Given the description of an element on the screen output the (x, y) to click on. 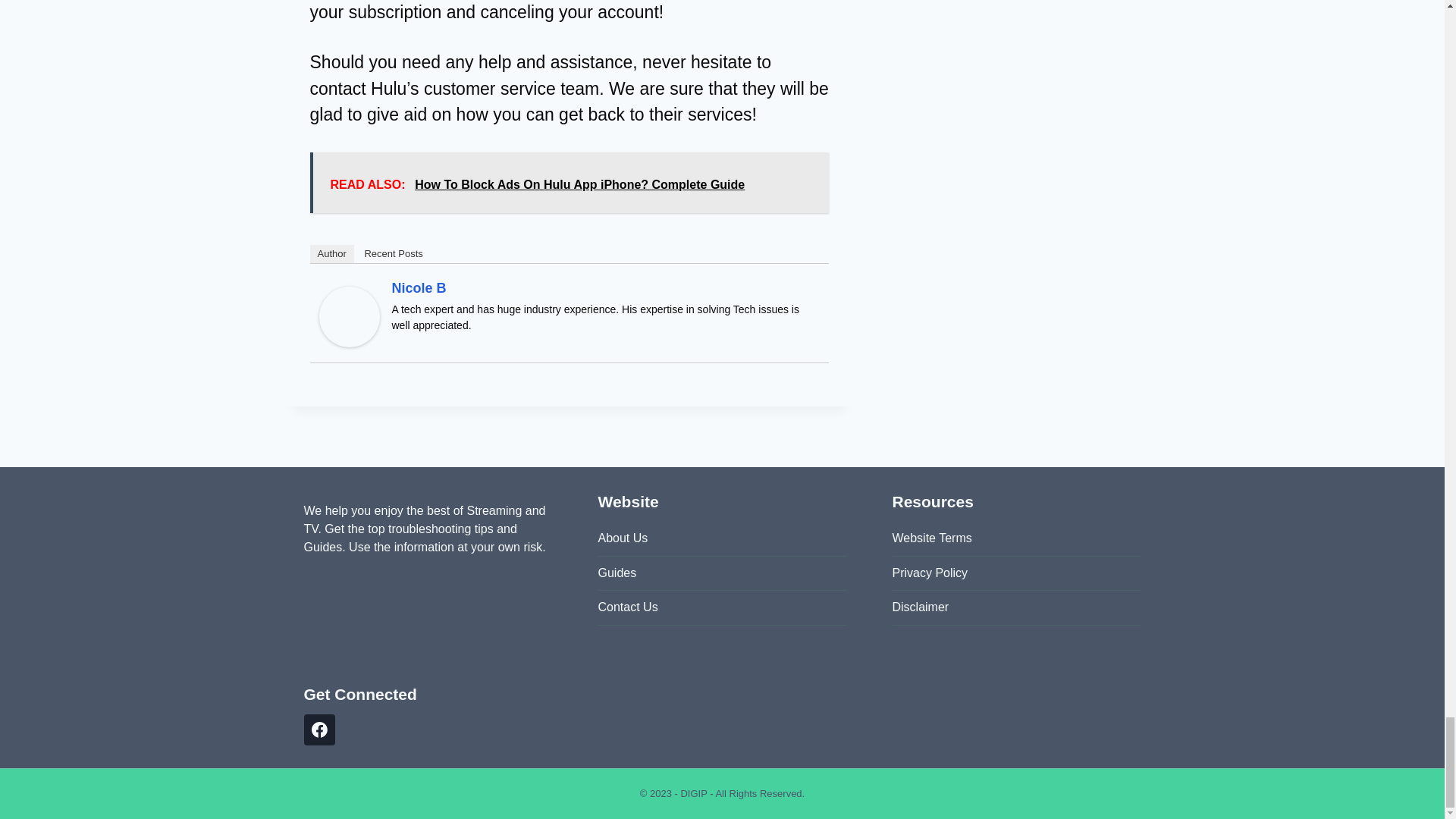
Author (330, 253)
Nicole B (348, 316)
Nicole B (418, 287)
Recent Posts (392, 253)
